Given the description of an element on the screen output the (x, y) to click on. 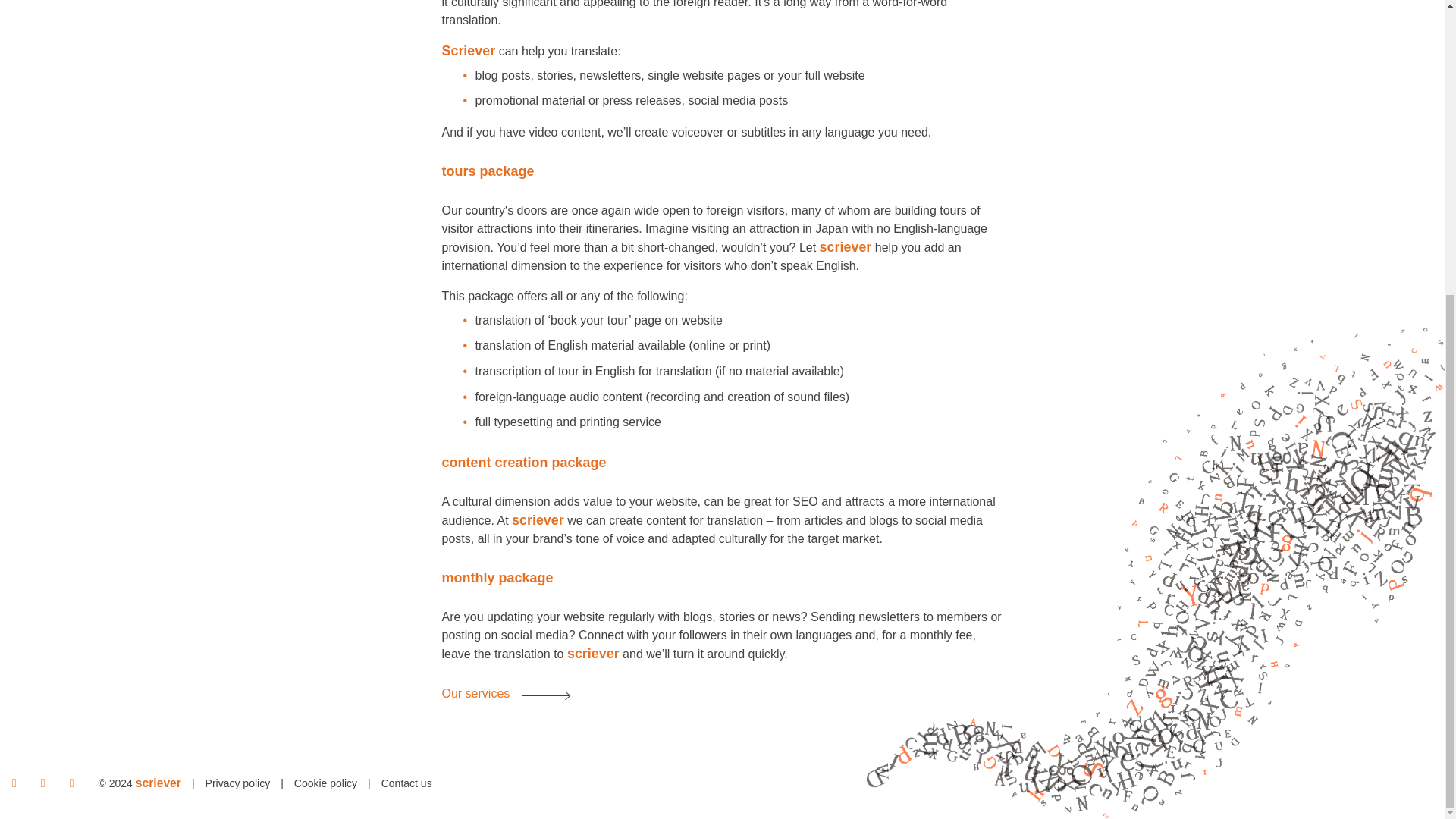
scriever (157, 783)
Contact us (406, 783)
Privacy policy (237, 783)
Our services (505, 693)
Cookie policy (325, 783)
